Given the description of an element on the screen output the (x, y) to click on. 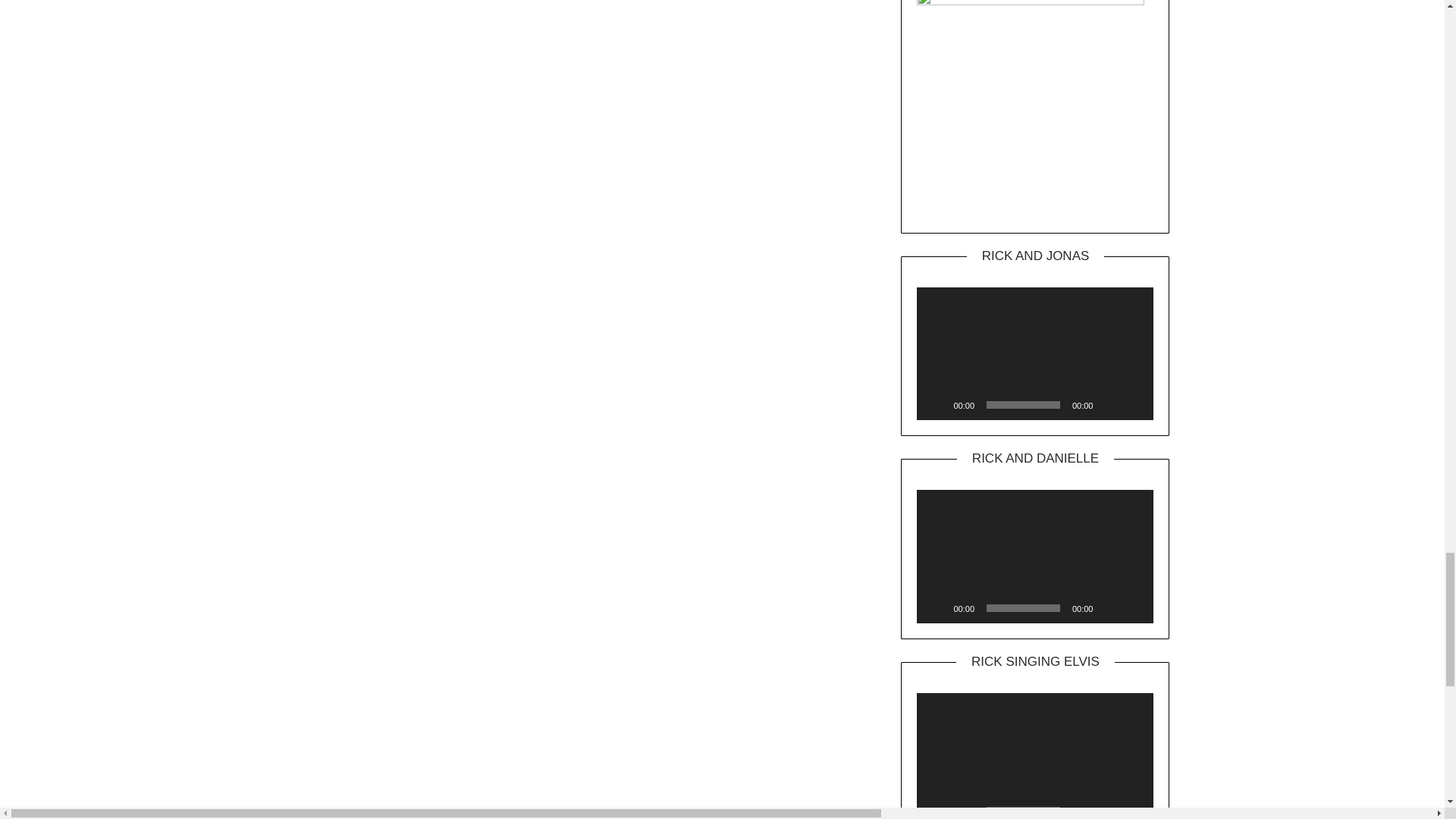
Mute (1109, 810)
Play (935, 607)
Mute (1109, 404)
Play (935, 810)
Mute (1109, 607)
Fullscreen (1133, 607)
Play (935, 404)
Fullscreen (1133, 404)
Fullscreen (1133, 810)
